Given the description of an element on the screen output the (x, y) to click on. 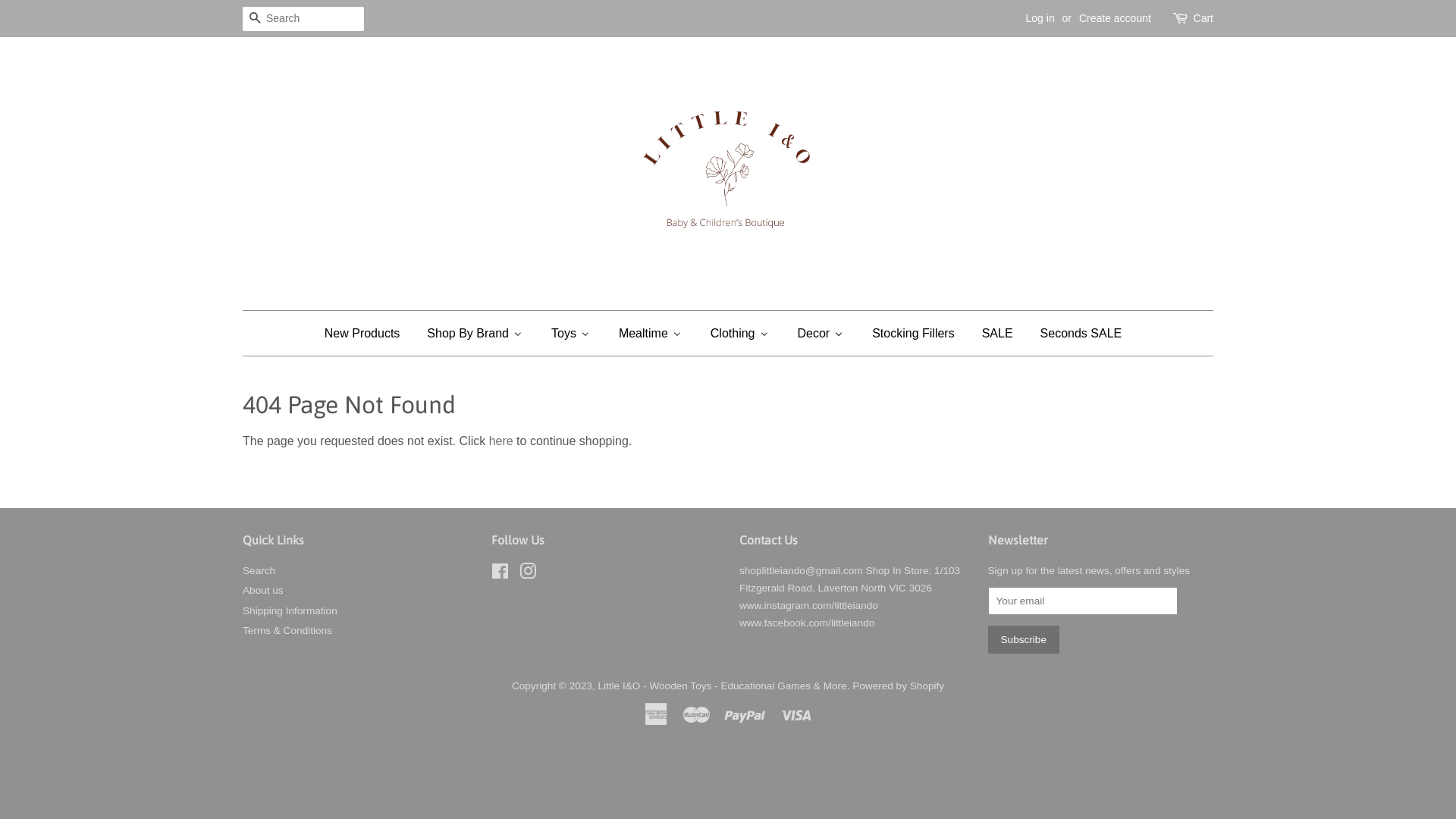
Log in Element type: text (1040, 18)
Powered by Shopify Element type: text (898, 685)
Facebook Element type: text (499, 574)
SALE Element type: text (996, 332)
here Element type: text (501, 440)
About us Element type: text (262, 590)
Instagram Element type: text (527, 574)
Seconds SALE Element type: text (1080, 332)
Stocking Fillers Element type: text (911, 332)
Create account Element type: text (1115, 18)
Shop By Brand Element type: text (474, 332)
Terms & Conditions Element type: text (287, 630)
Toys Element type: text (570, 332)
Search Element type: text (258, 570)
Clothing Element type: text (739, 332)
Subscribe Element type: text (1022, 639)
Little I&O - Wooden Toys - Educational Games & More Element type: text (721, 685)
Search Element type: text (254, 18)
Mealtime Element type: text (650, 332)
Cart Element type: text (1203, 18)
New Products Element type: text (367, 332)
Shipping Information Element type: text (289, 610)
Decor Element type: text (819, 332)
